Given the description of an element on the screen output the (x, y) to click on. 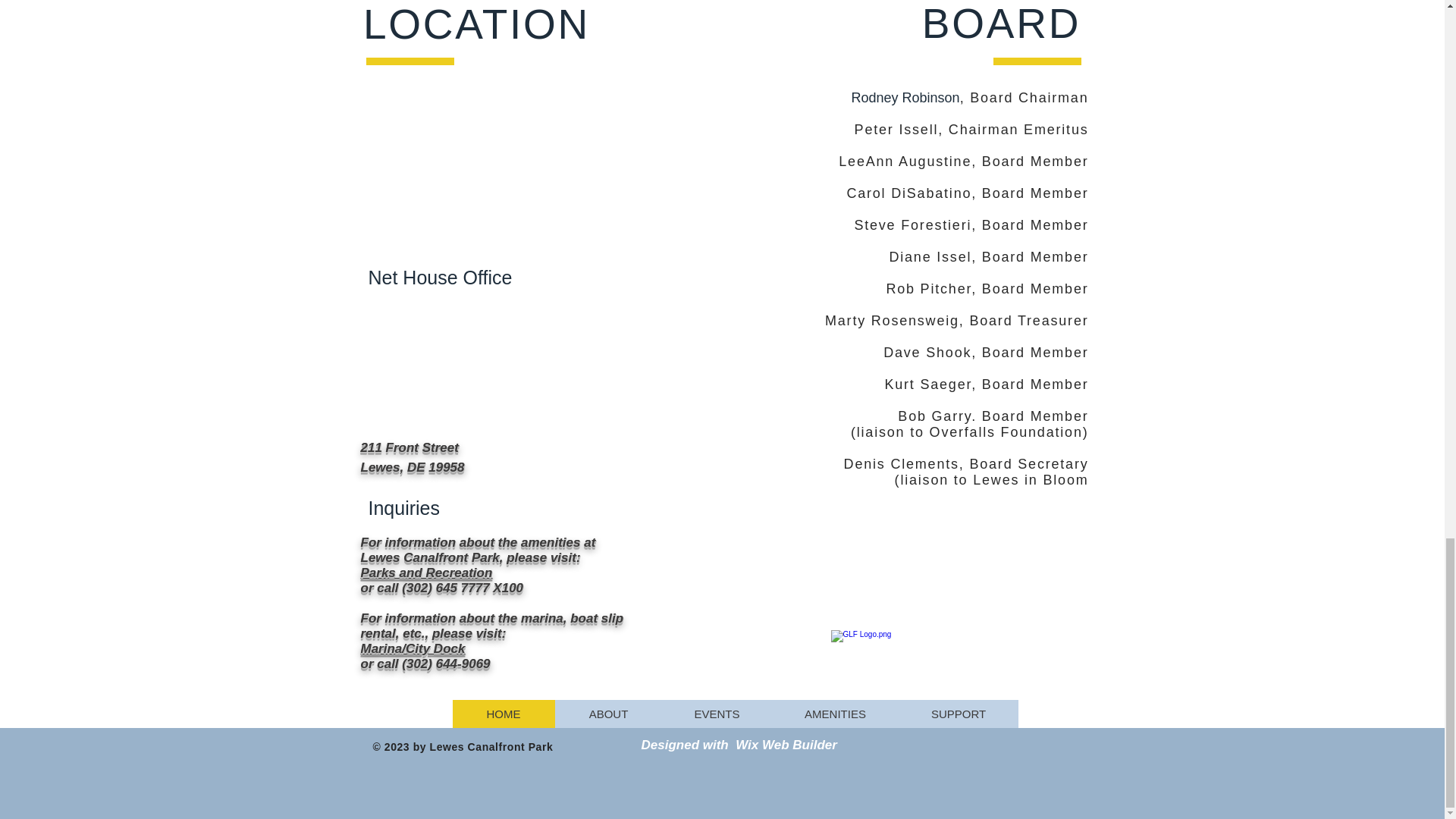
ABOUT (608, 714)
EVENTS (716, 714)
Parks and Recreation (427, 572)
Designed with  Wix Web Builder (739, 744)
HOME (502, 714)
AMENITIES (834, 714)
SUPPORT (957, 714)
